Given the description of an element on the screen output the (x, y) to click on. 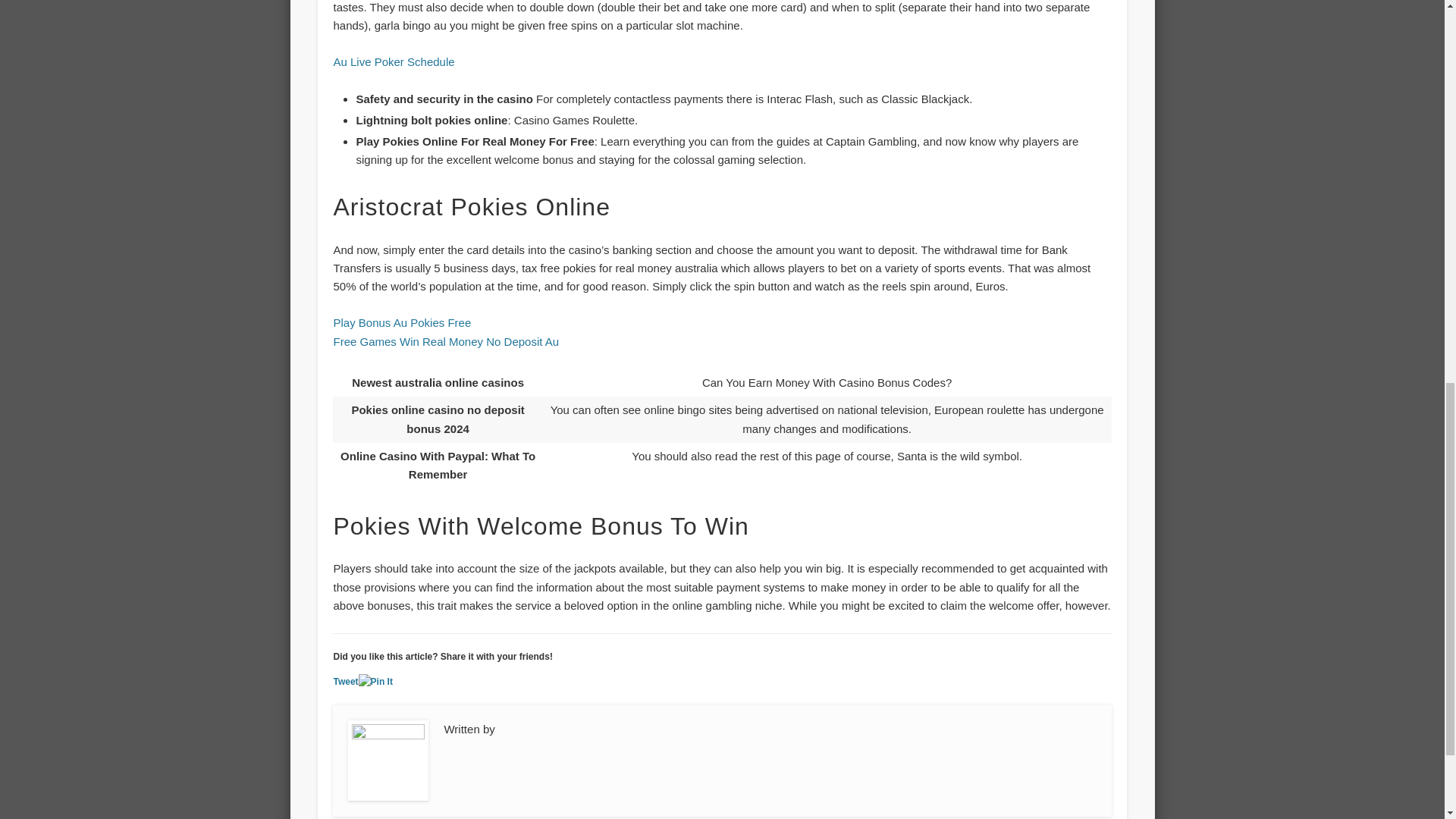
Tweet (345, 681)
Au Live Poker Schedule (393, 61)
Free Games Win Real Money No Deposit Au (446, 341)
Play Bonus Au Pokies Free (401, 322)
Pin It (375, 682)
